Given the description of an element on the screen output the (x, y) to click on. 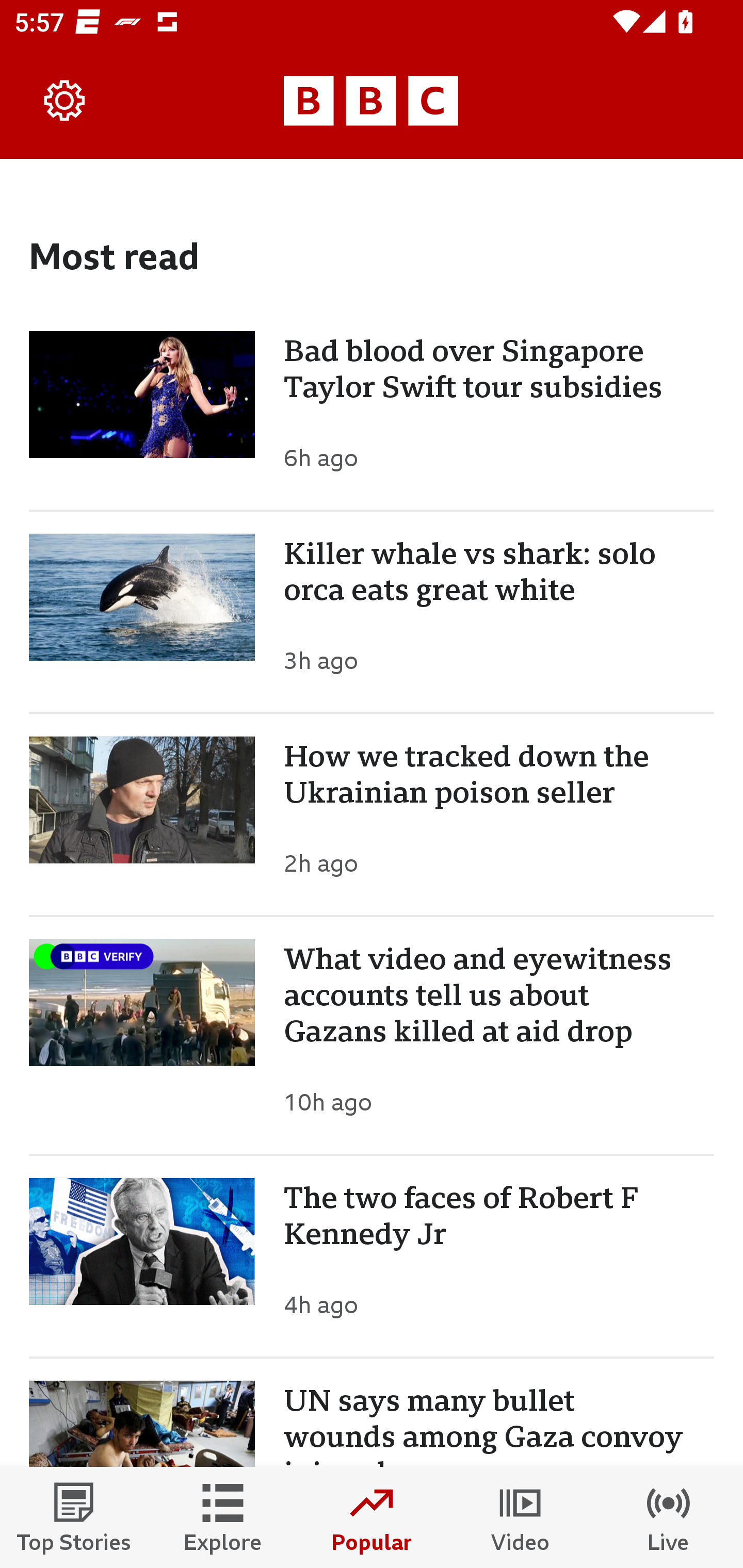
Settings (64, 100)
Top Stories (74, 1517)
Explore (222, 1517)
Video (519, 1517)
Live (668, 1517)
